Given the description of an element on the screen output the (x, y) to click on. 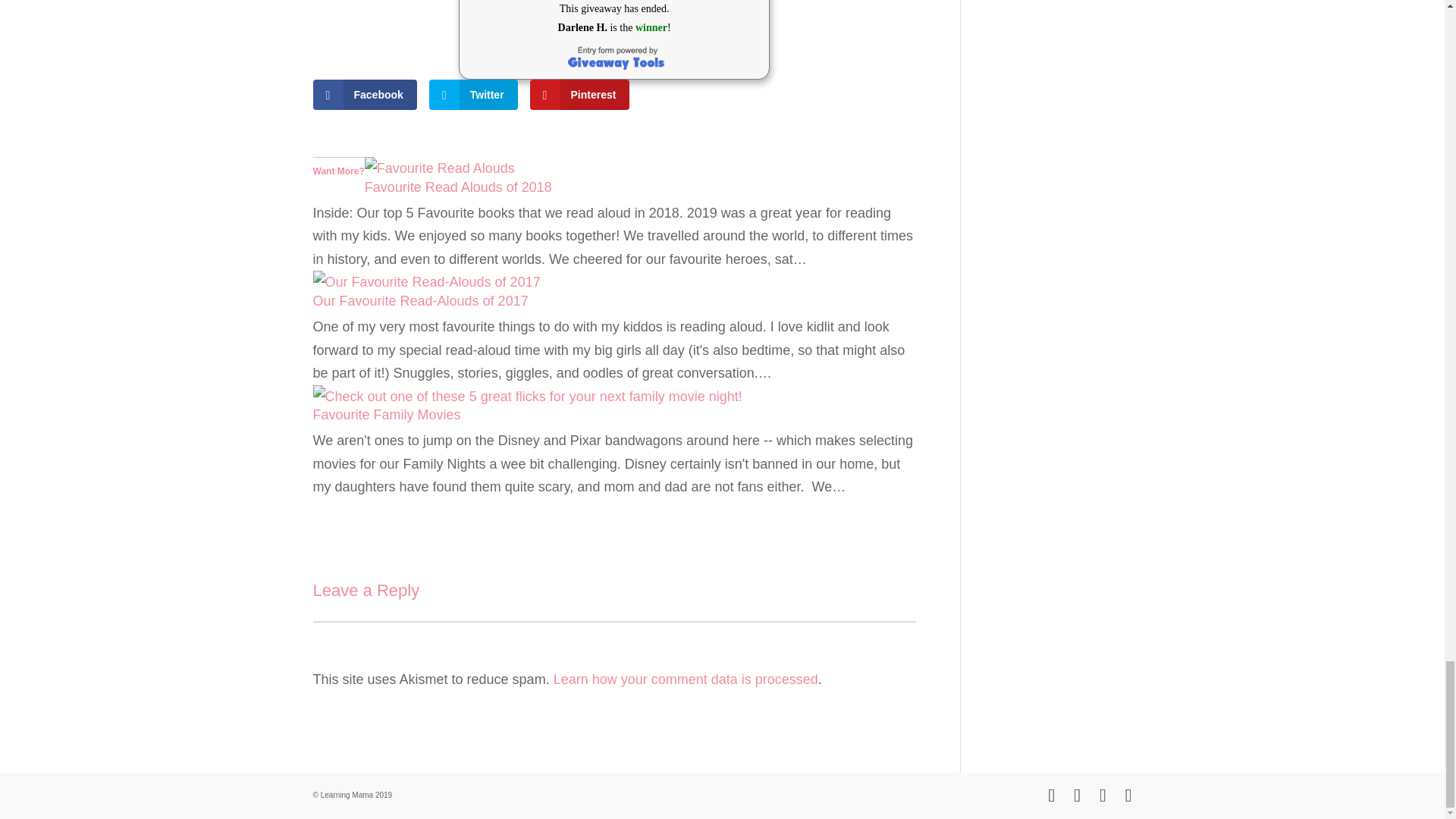
Favourite Family Movies (527, 396)
Favourite Read Alouds of 2018 (440, 168)
Our Favourite Read-Alouds of 2017 (426, 281)
Our Favourite Read-Alouds of 2017 (420, 300)
Favourite Read Alouds of 2018 (458, 186)
Favourite Family Movies (386, 414)
